Given the description of an element on the screen output the (x, y) to click on. 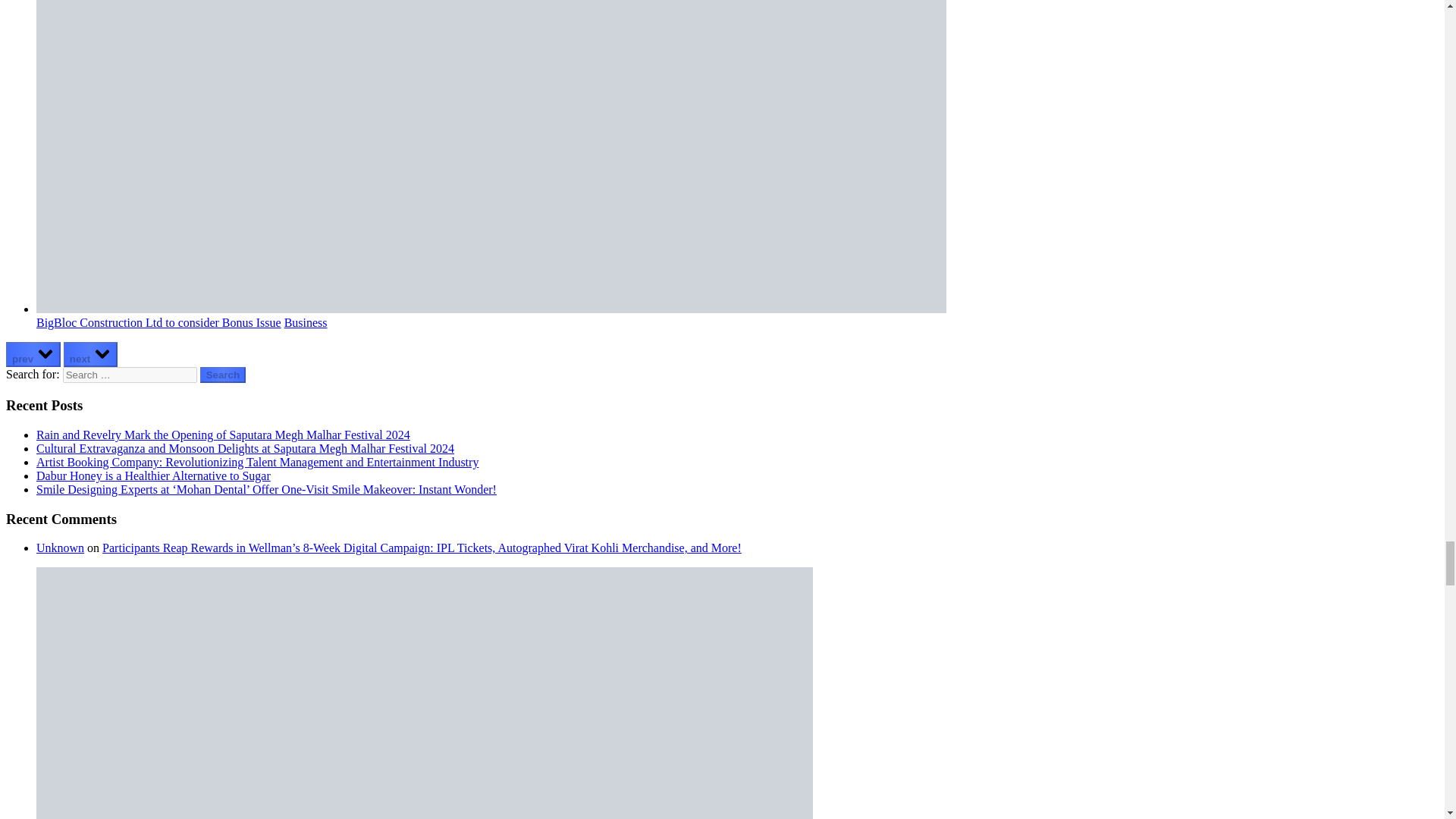
Search (223, 374)
Search (223, 374)
